Given the description of an element on the screen output the (x, y) to click on. 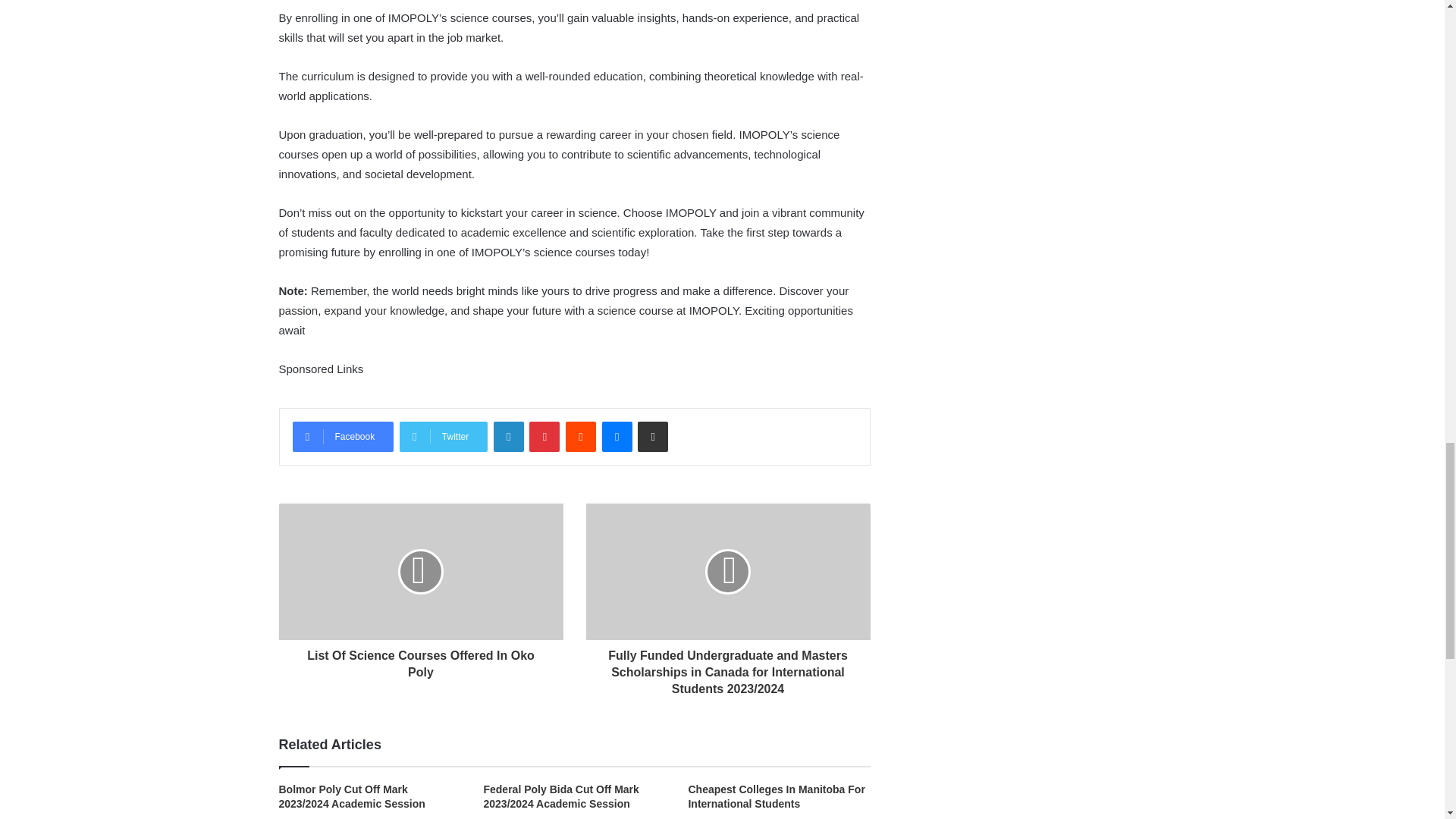
Pinterest (544, 436)
LinkedIn (508, 436)
Reddit (580, 436)
Share via Email (652, 436)
Messenger (616, 436)
Twitter (442, 436)
Facebook (343, 436)
